Given the description of an element on the screen output the (x, y) to click on. 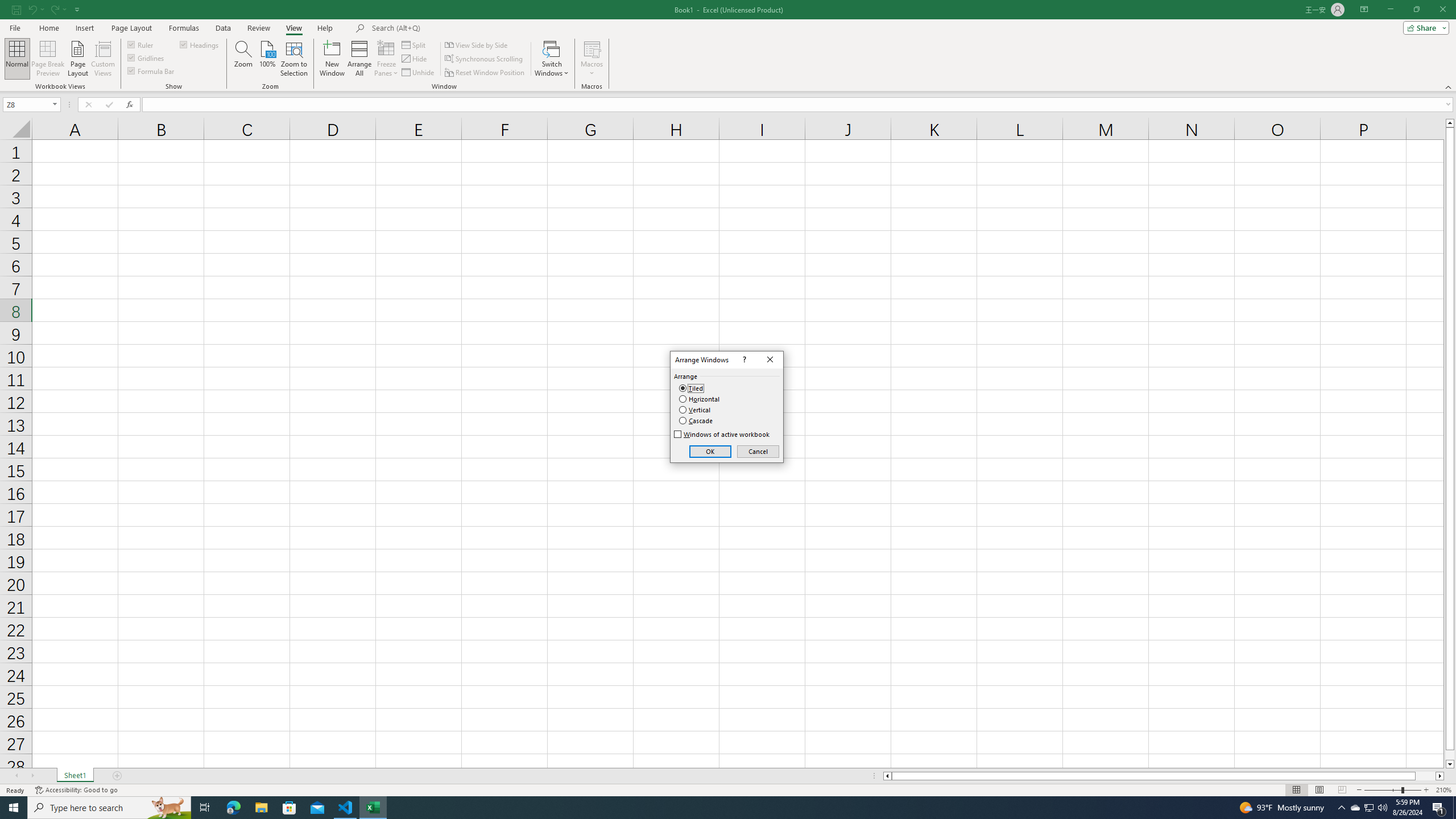
View Side by Side (476, 44)
Switch Windows (551, 58)
Microsoft Store (289, 807)
Type here to search (108, 807)
Start (13, 807)
Context help (743, 359)
Gridlines (146, 56)
